Given the description of an element on the screen output the (x, y) to click on. 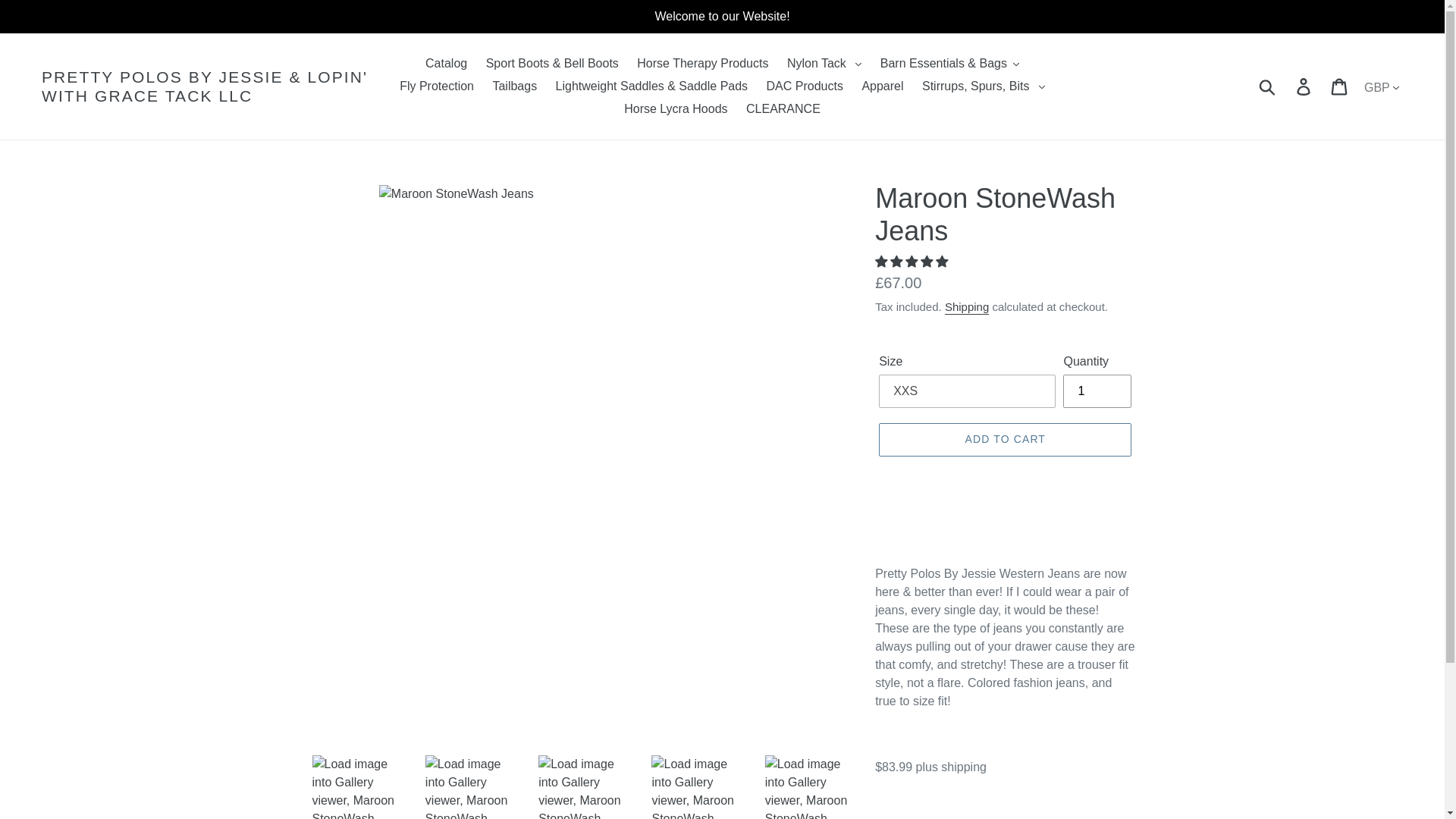
CLEARANCE (783, 108)
Catalog (445, 63)
Apparel (882, 86)
Horse Lycra Hoods (675, 108)
Cart (1340, 86)
1 (1096, 390)
Tailbags (514, 86)
Submit (1268, 86)
Horse Therapy Products (702, 63)
Log in (1304, 86)
DAC Products (804, 86)
Fly Protection (436, 86)
